Given the description of an element on the screen output the (x, y) to click on. 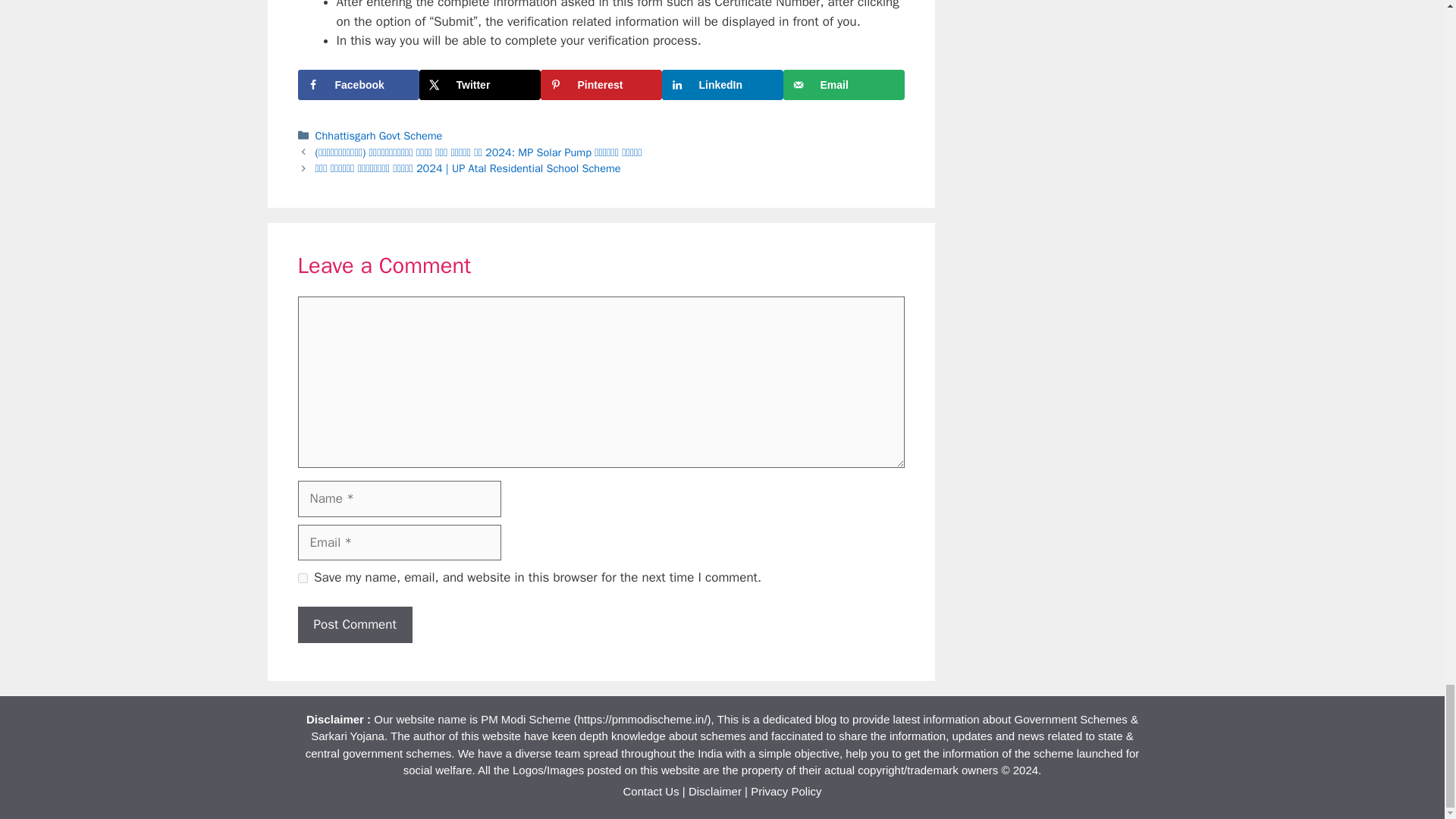
Chhattisgarh Govt Scheme (378, 135)
Email (843, 84)
Facebook (358, 84)
Share on LinkedIn (722, 84)
LinkedIn (722, 84)
yes (302, 578)
Pinterest (600, 84)
Share on Facebook (358, 84)
Twitter (479, 84)
Post Comment (354, 624)
Share on X (479, 84)
Save to Pinterest (600, 84)
